Given the description of an element on the screen output the (x, y) to click on. 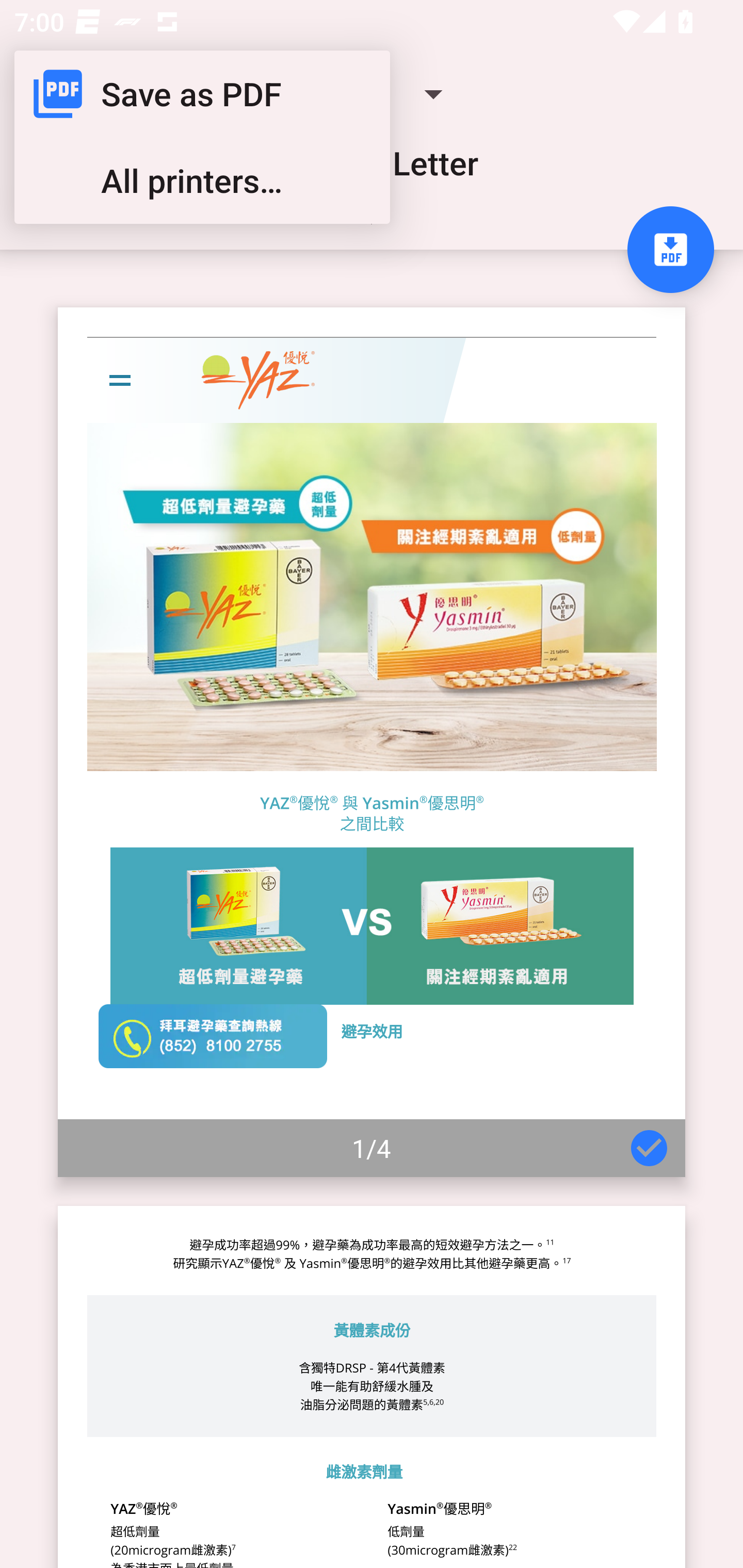
Save as PDF (202, 93)
All printers… (202, 180)
